Given the description of an element on the screen output the (x, y) to click on. 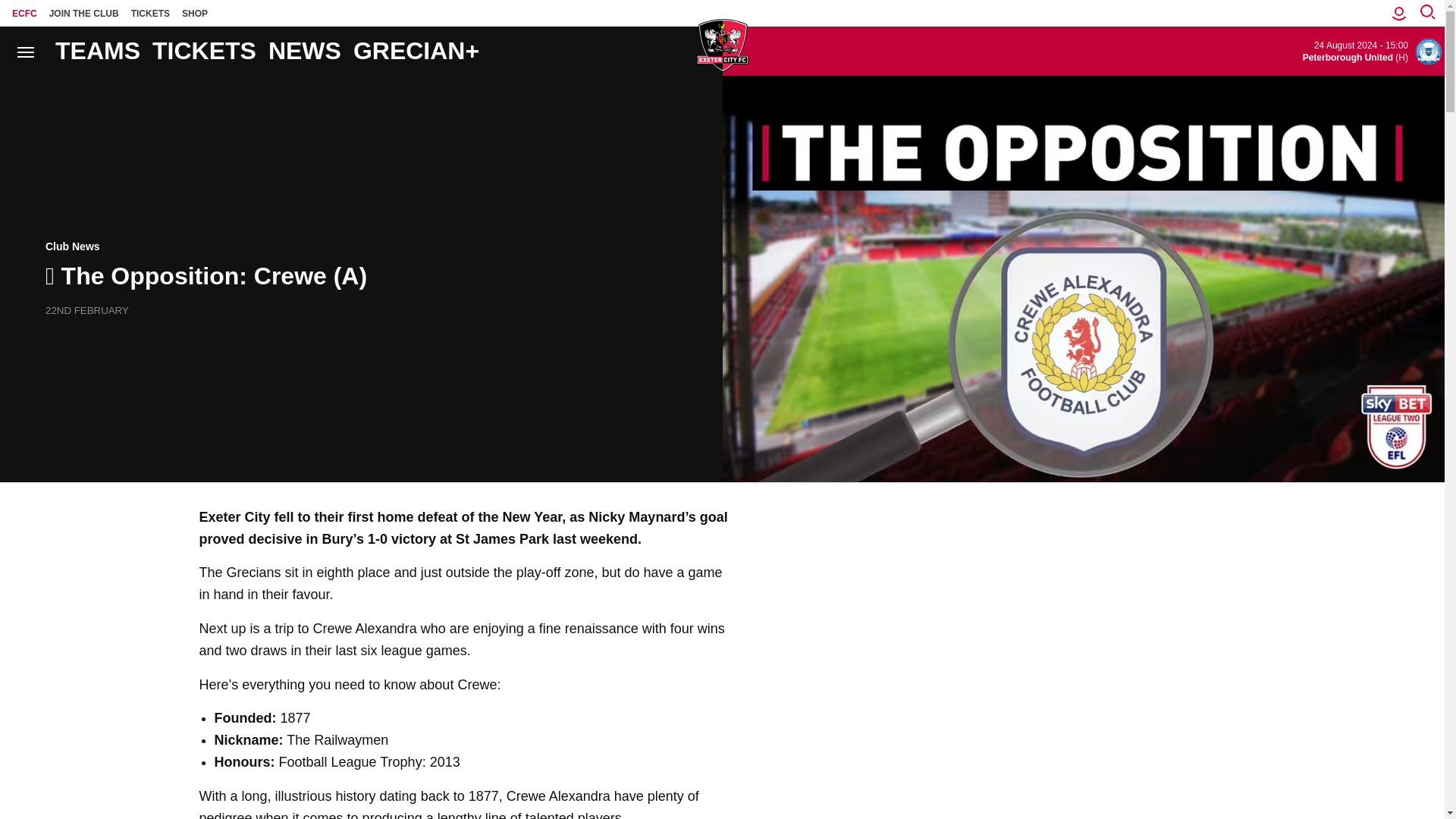
TICKETS (150, 13)
SHOP (195, 13)
ECFC (24, 13)
JOIN THE CLUB (84, 13)
